Given the description of an element on the screen output the (x, y) to click on. 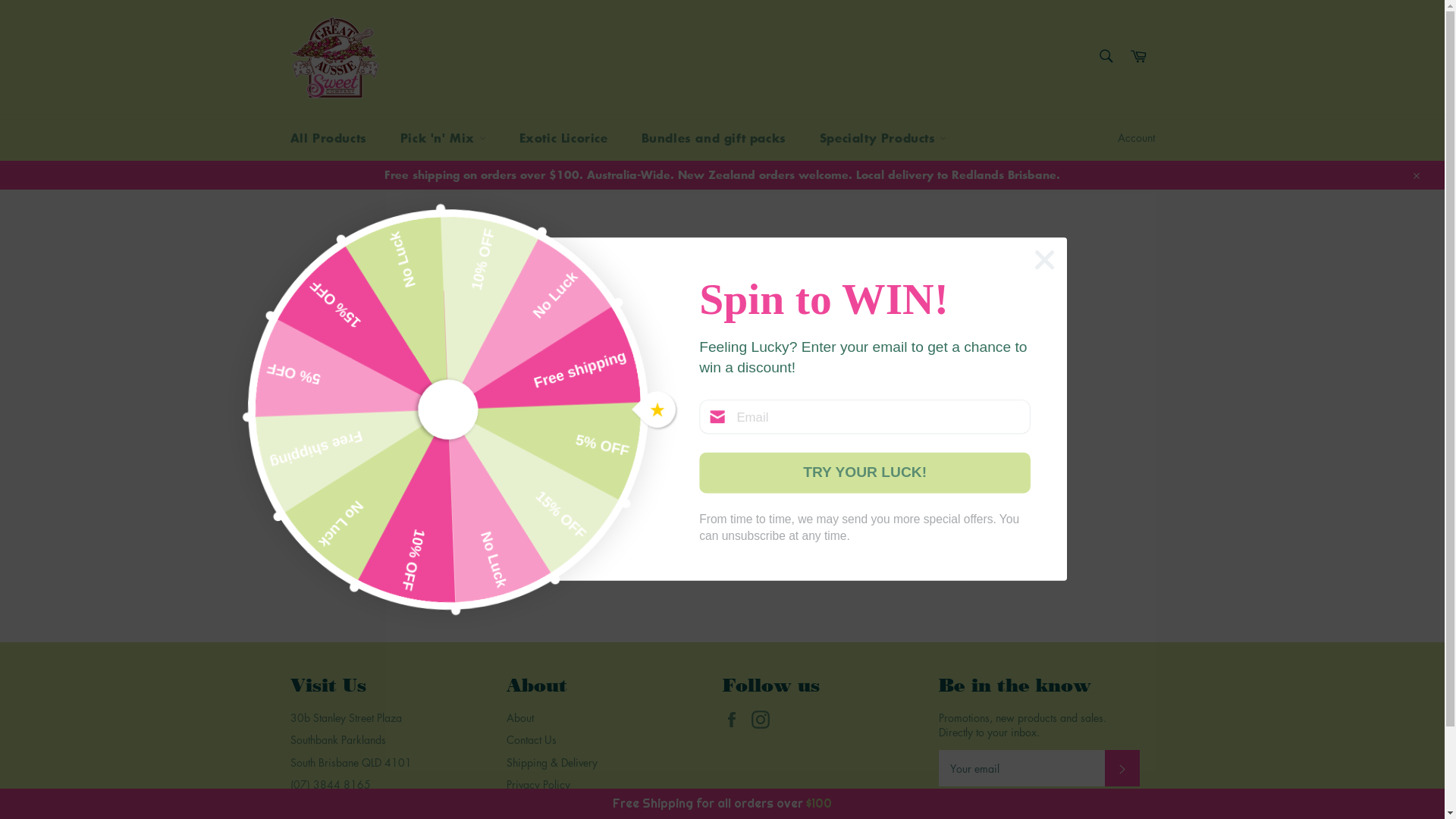
Continue shopping Element type: text (722, 448)
Facebook Element type: text (734, 719)
Shipping & Delivery Element type: text (551, 761)
Account Element type: text (1136, 137)
Exotic Licorice Element type: text (563, 137)
Close Element type: text (1415, 174)
Specialty Products Element type: text (882, 137)
Cart Element type: text (1138, 56)
All Products Element type: text (327, 137)
Search Element type: text (1105, 55)
Instagram Element type: text (763, 719)
Contact Us Element type: text (531, 738)
Pick 'n' Mix Element type: text (443, 137)
Privacy Policy Element type: text (538, 783)
About Element type: text (519, 716)
Subscribe Element type: text (1121, 767)
(07) 3844 8165 Element type: text (329, 783)
Bundles and gift packs Element type: text (713, 137)
